Given the description of an element on the screen output the (x, y) to click on. 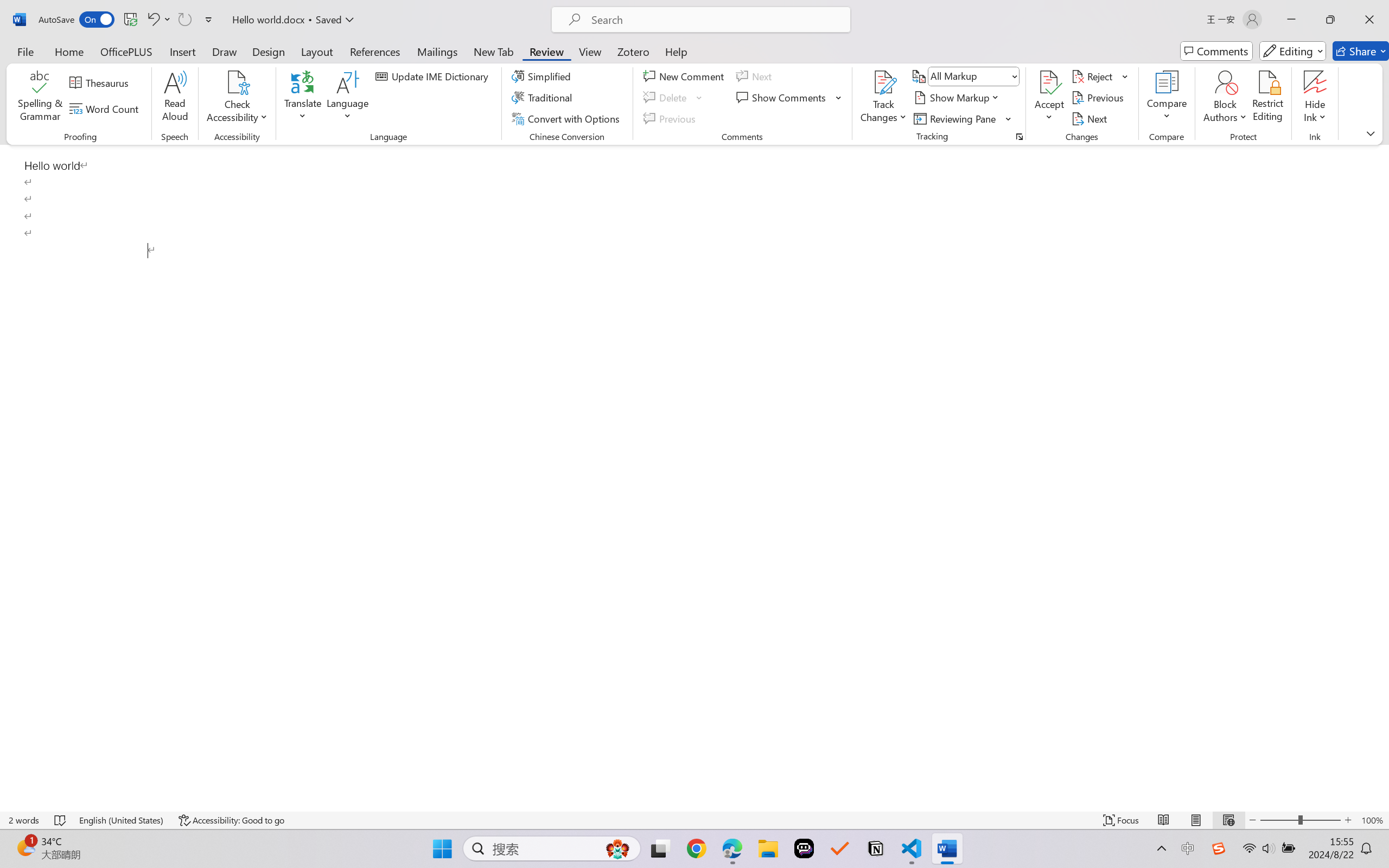
Reject (1100, 75)
Undo Click and Type Formatting (158, 19)
Read Aloud (174, 97)
Translate (303, 97)
Restore Down (1330, 19)
New Tab (493, 51)
Update IME Dictionary... (433, 75)
Accessibility Checker Accessibility: Good to go (231, 819)
Show Markup (957, 97)
Check Accessibility (237, 81)
Delete (666, 97)
Review (546, 51)
